Given the description of an element on the screen output the (x, y) to click on. 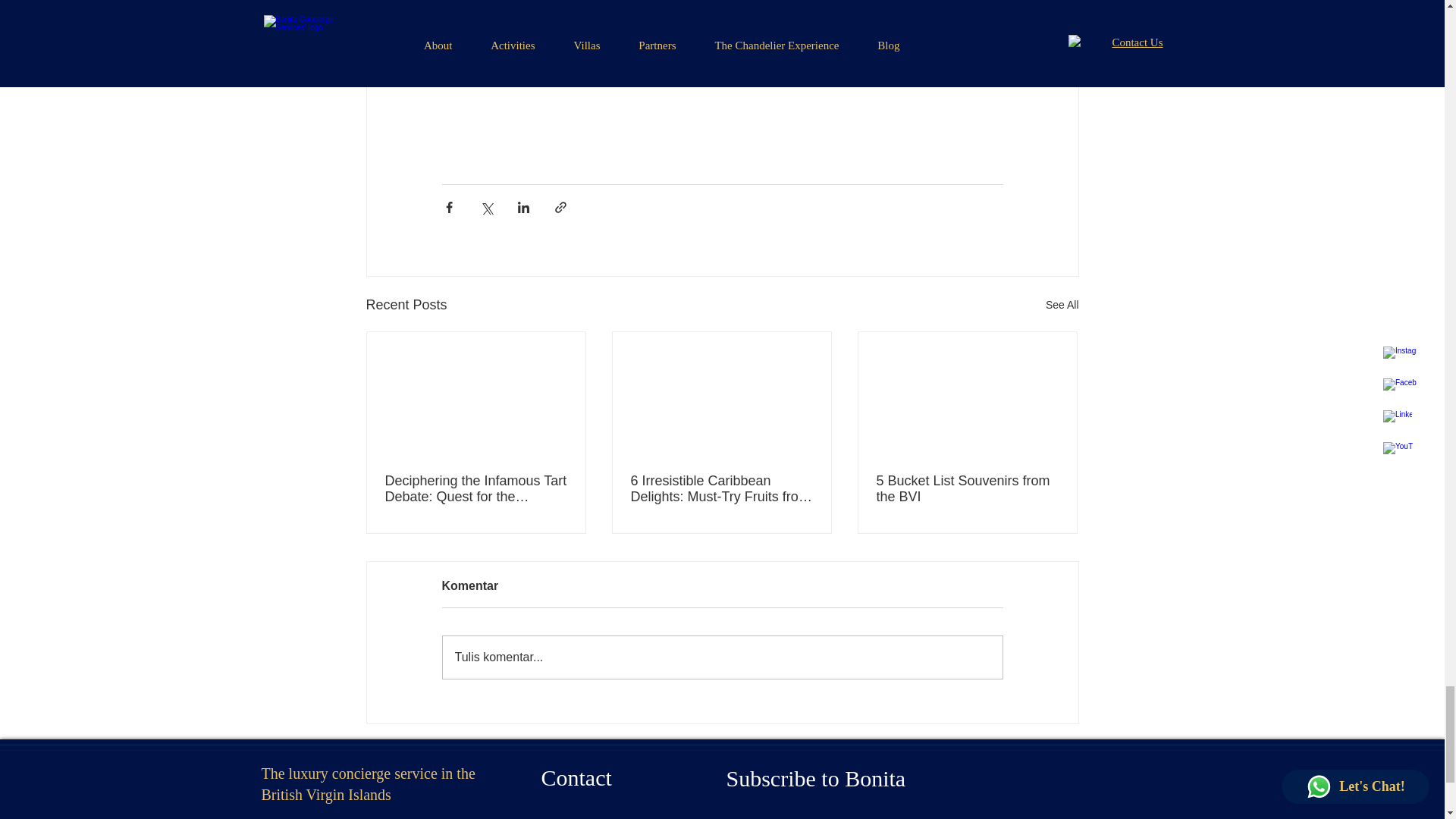
5 Bucket List Souvenirs from the BVI (967, 489)
Tulis komentar... (722, 657)
See All (1061, 305)
